Given the description of an element on the screen output the (x, y) to click on. 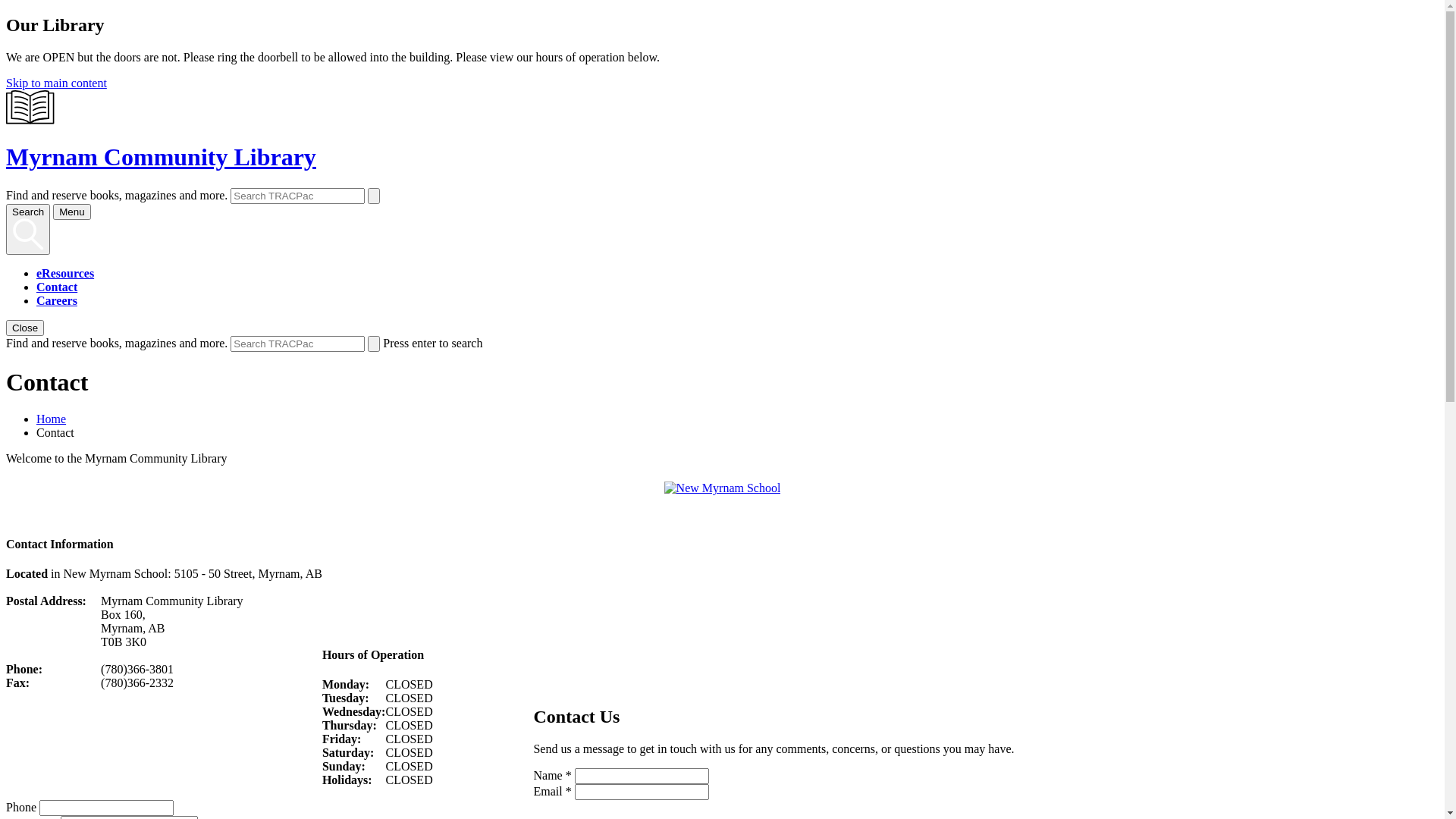
Myrnam Community Library Element type: text (722, 142)
Careers Element type: text (56, 300)
Search Element type: text (28, 229)
New Myrnam School Element type: hover (722, 488)
Menu Element type: text (71, 211)
Close Element type: text (24, 327)
Skip to main content Element type: text (56, 82)
Home Element type: text (50, 418)
eResources Element type: text (65, 272)
Contact Element type: text (56, 286)
